Given the description of an element on the screen output the (x, y) to click on. 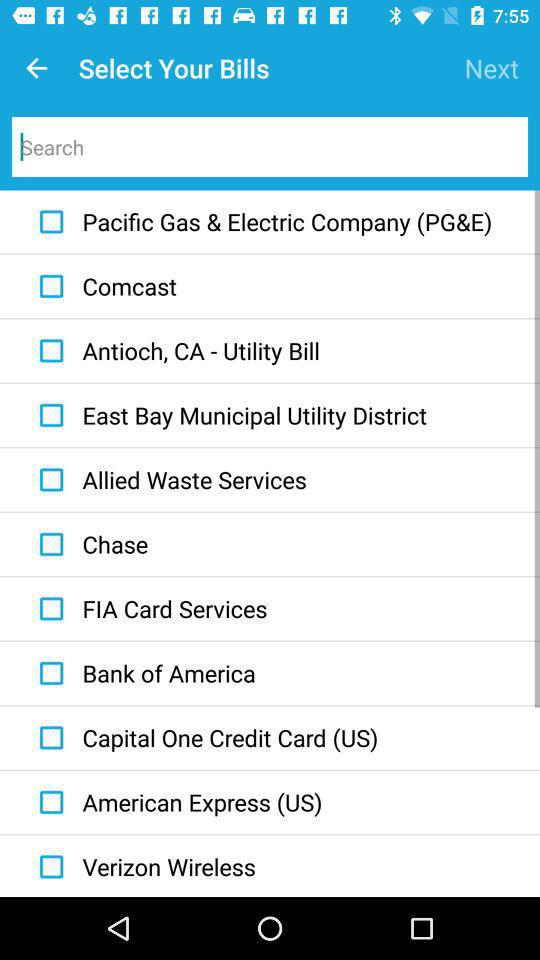
tap item above the american express (us) icon (204, 737)
